Given the description of an element on the screen output the (x, y) to click on. 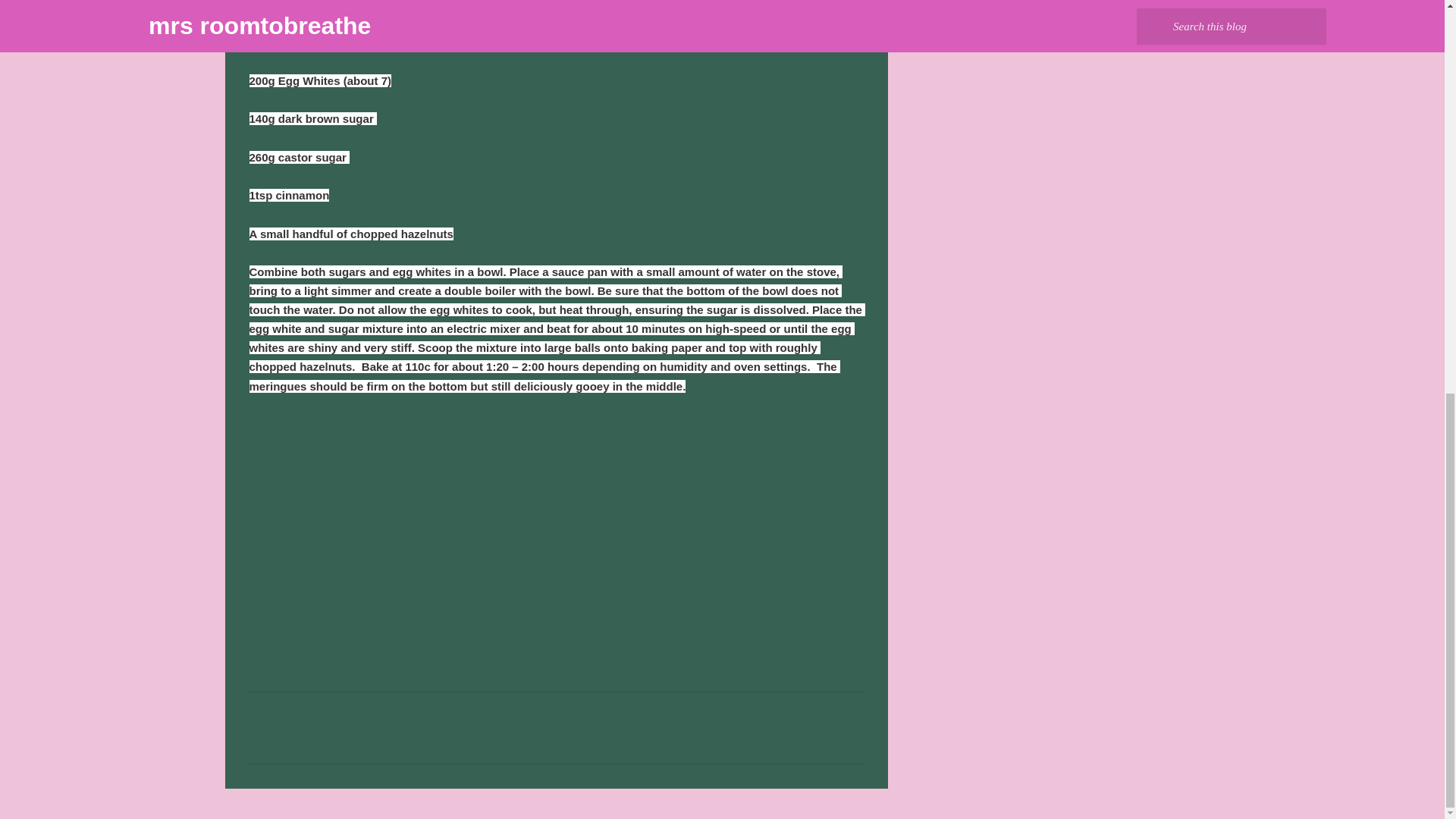
Email Post (257, 593)
